Given the description of an element on the screen output the (x, y) to click on. 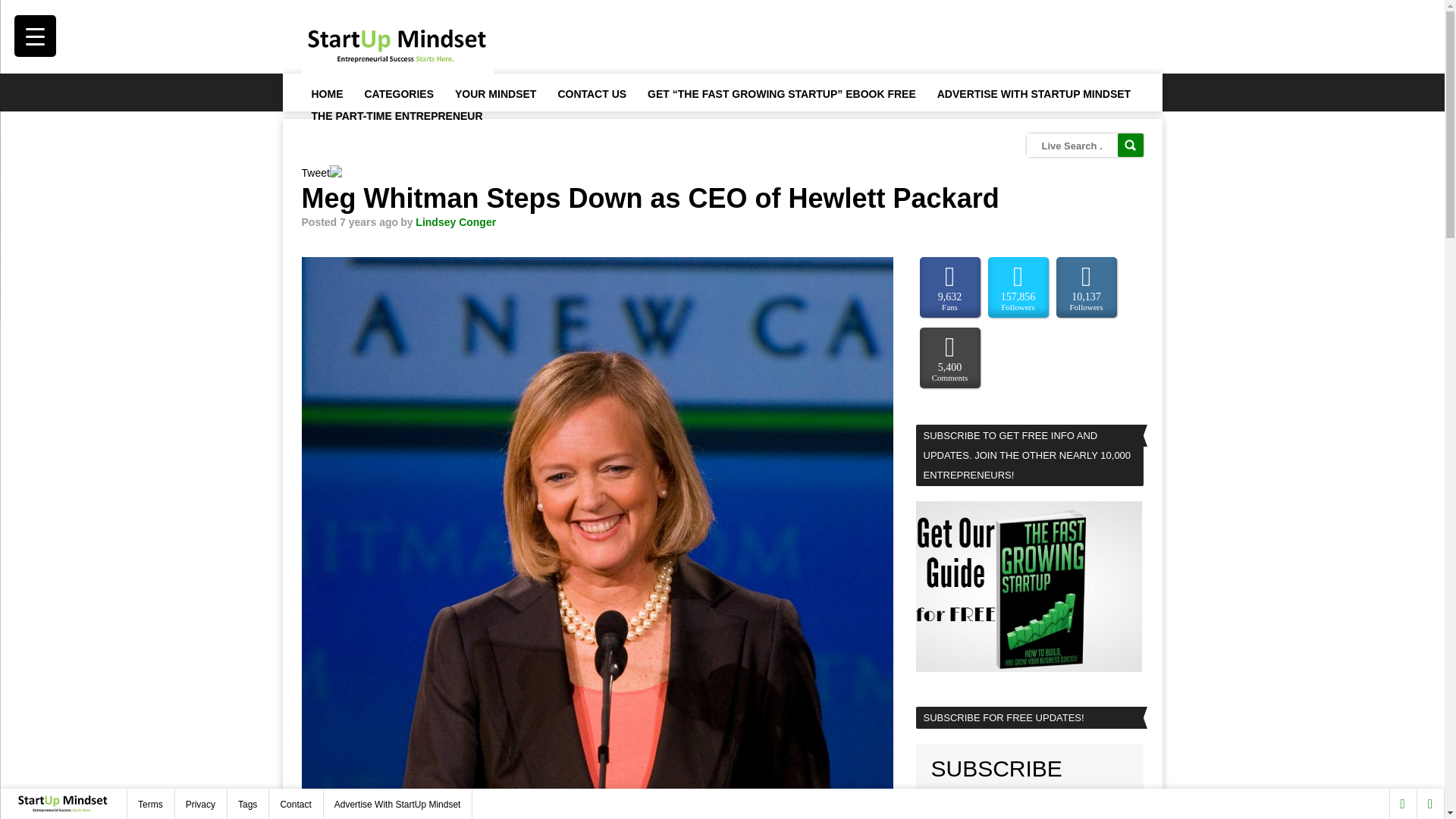
Search (1130, 145)
CATEGORIES (399, 92)
Take Action Now! (293, 15)
Search (1130, 145)
ADVERTISE WITH STARTUP MINDSET (1033, 92)
HOME (326, 92)
THE PART-TIME ENTREPRENEUR (396, 115)
CONTACT US (590, 92)
Tweet (315, 173)
YOUR MINDSET (494, 92)
